Given the description of an element on the screen output the (x, y) to click on. 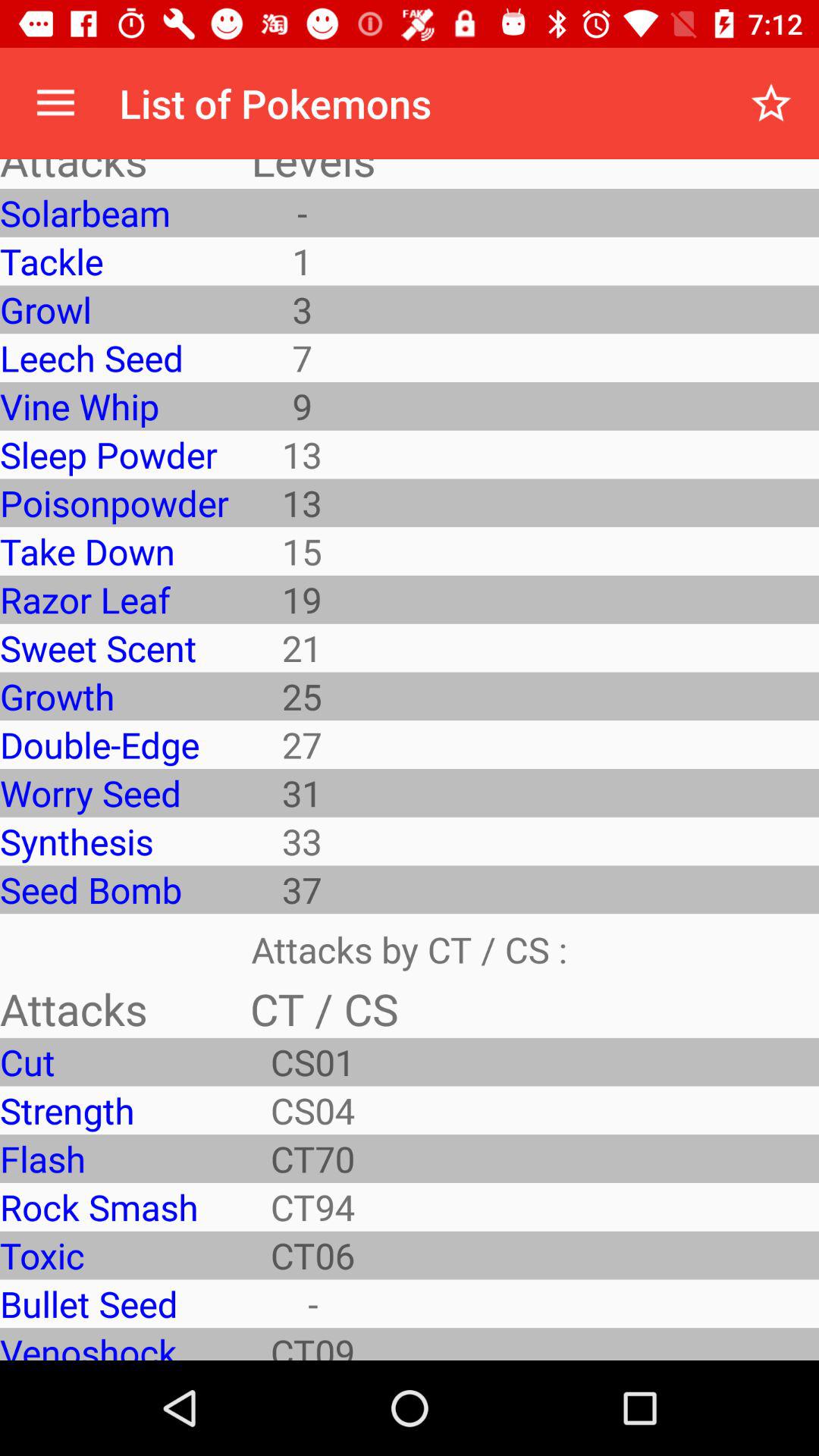
flip until the razor leaf (114, 599)
